Given the description of an element on the screen output the (x, y) to click on. 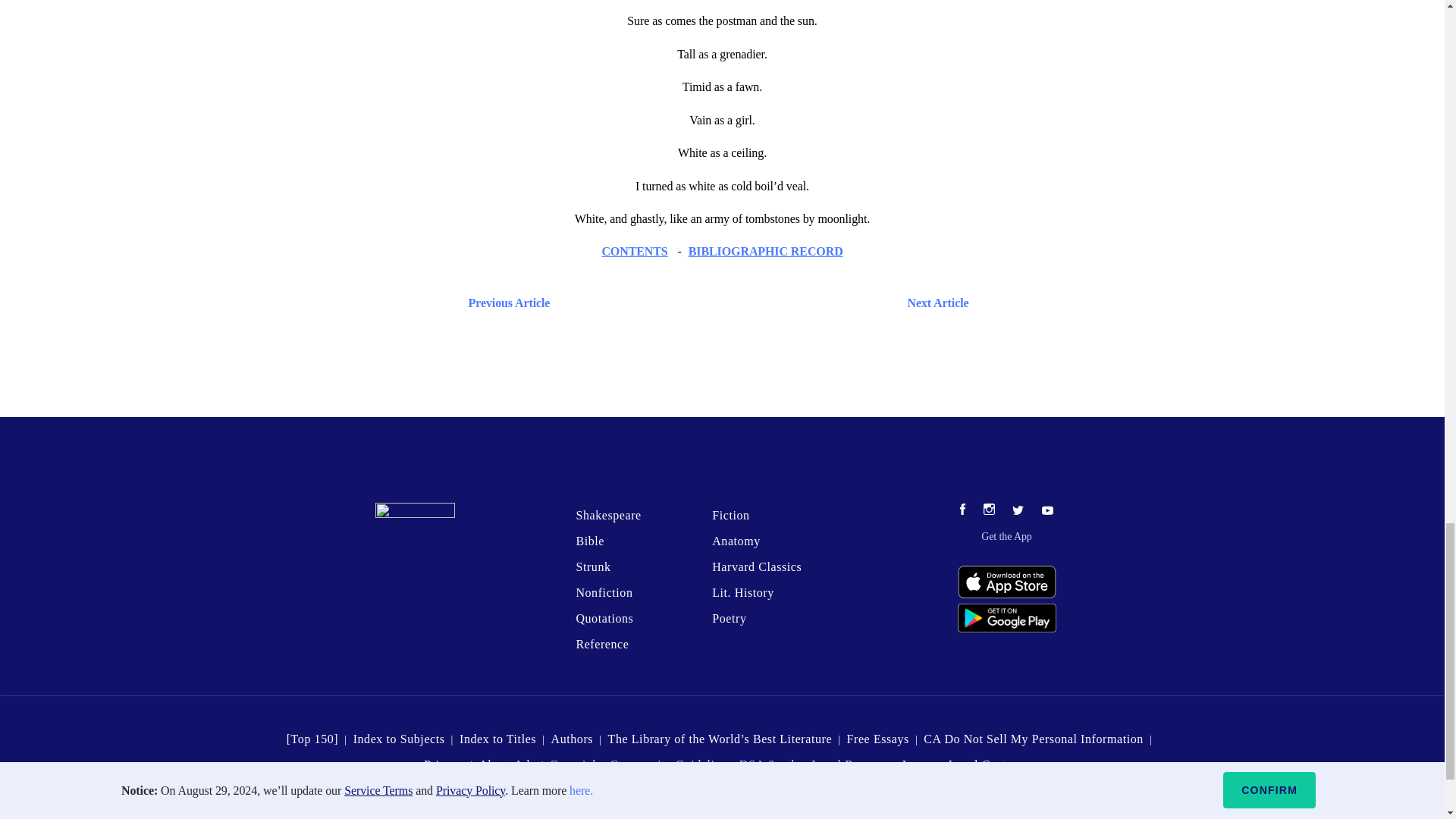
Anatomy (735, 540)
Nonfiction (603, 592)
Shakespeare (607, 514)
Lit. History (742, 592)
Previous Article (505, 302)
Next Article (766, 302)
Fiction (730, 514)
Poetry (728, 617)
Harvard Classics (756, 566)
CONTENTS (633, 250)
